Given the description of an element on the screen output the (x, y) to click on. 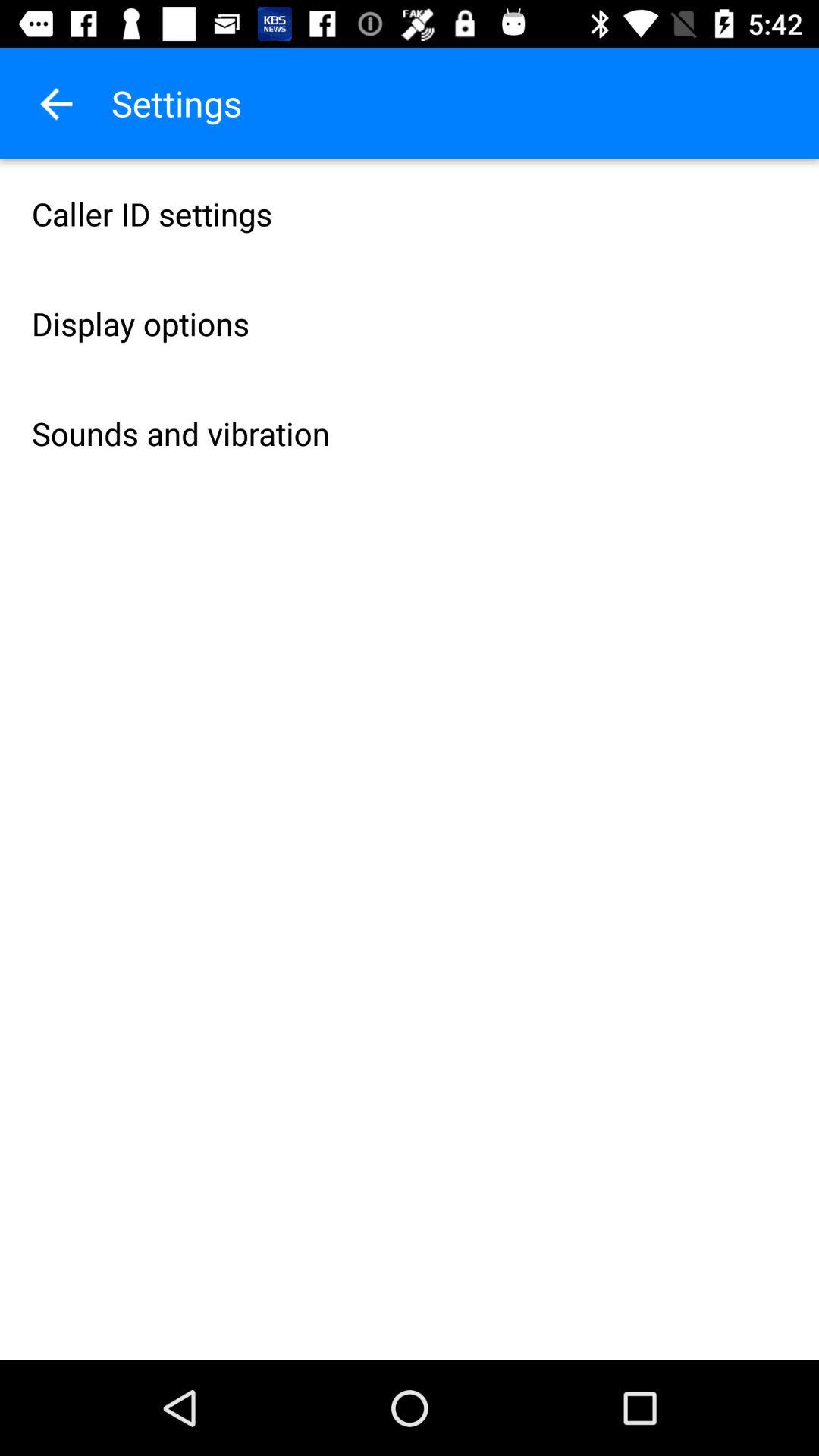
swipe until caller id settings icon (409, 214)
